Given the description of an element on the screen output the (x, y) to click on. 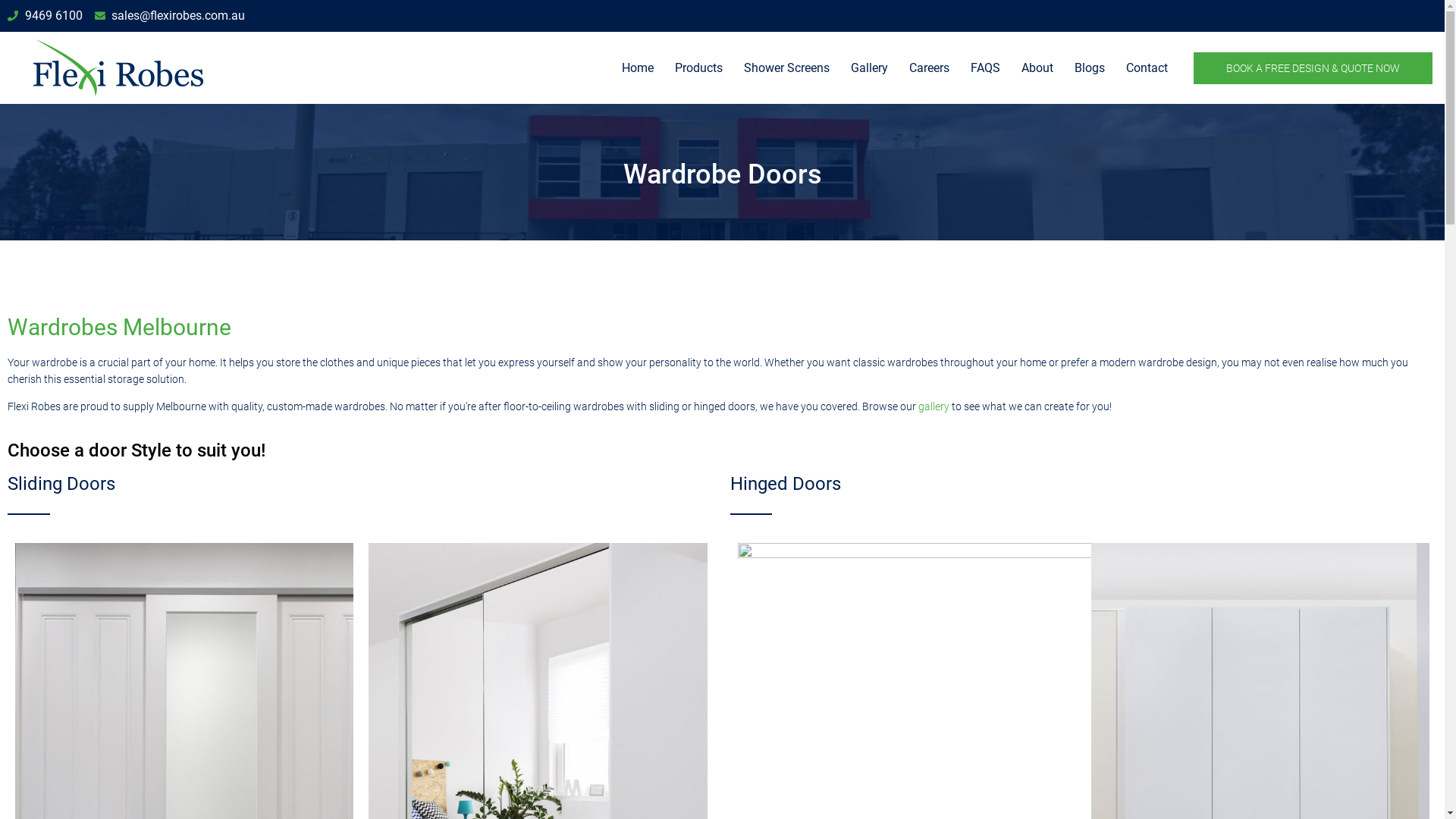
sales@flexirobes.com.au Element type: text (169, 15)
Shower Screens Element type: text (786, 67)
9469 6100 Element type: text (44, 15)
Blogs Element type: text (1089, 67)
Gallery Element type: text (869, 67)
Home Element type: text (637, 67)
BOOK A FREE DESIGN & QUOTE NOW Element type: text (1312, 67)
FAQS Element type: text (985, 67)
gallery Element type: text (933, 406)
Products Element type: text (698, 67)
Contact Element type: text (1146, 67)
Careers Element type: text (929, 67)
About Element type: text (1036, 67)
